Given the description of an element on the screen output the (x, y) to click on. 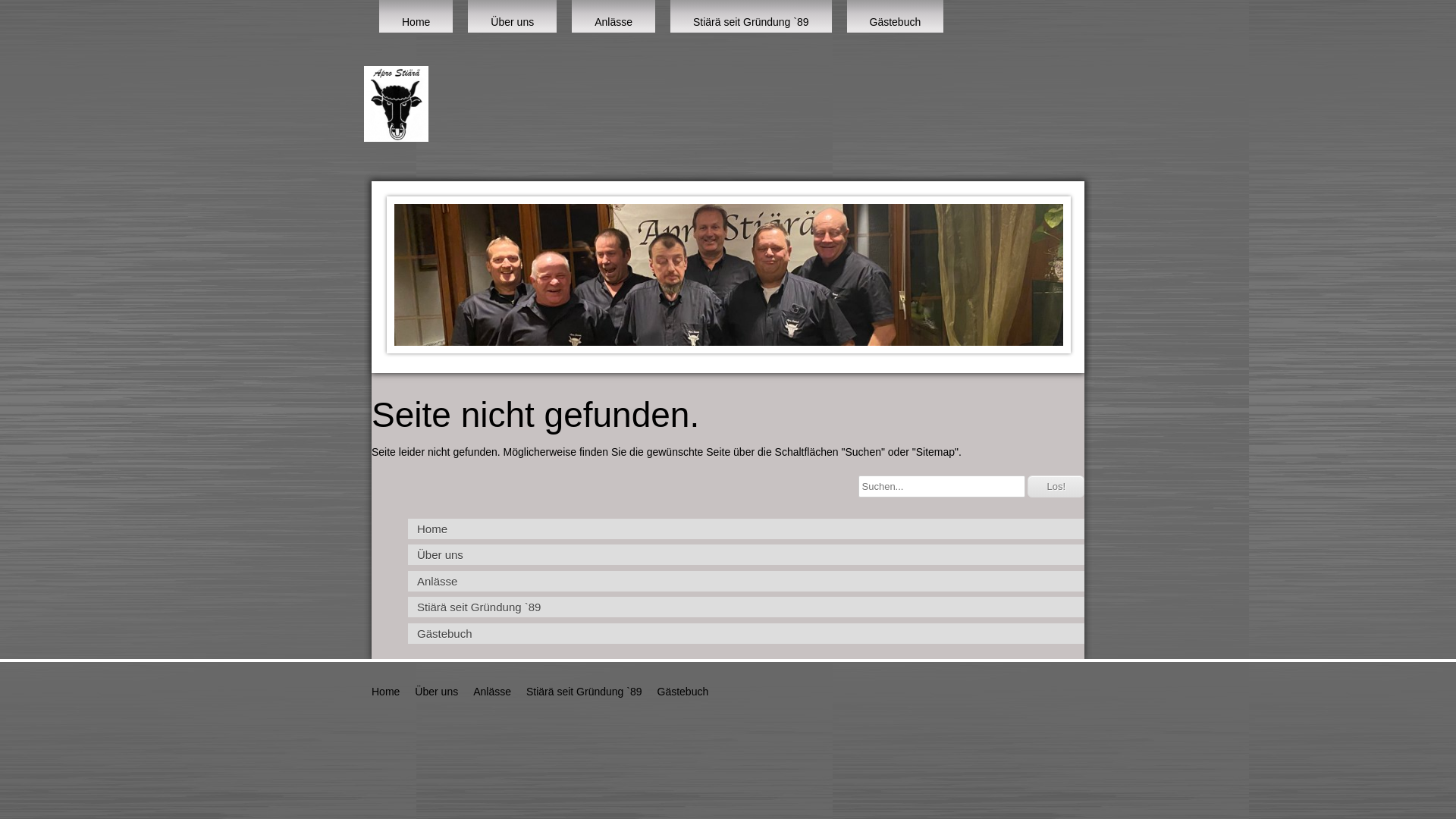
Los! Element type: text (1055, 486)
Home Element type: text (385, 691)
Home Element type: text (745, 528)
Home Element type: text (415, 16)
